Given the description of an element on the screen output the (x, y) to click on. 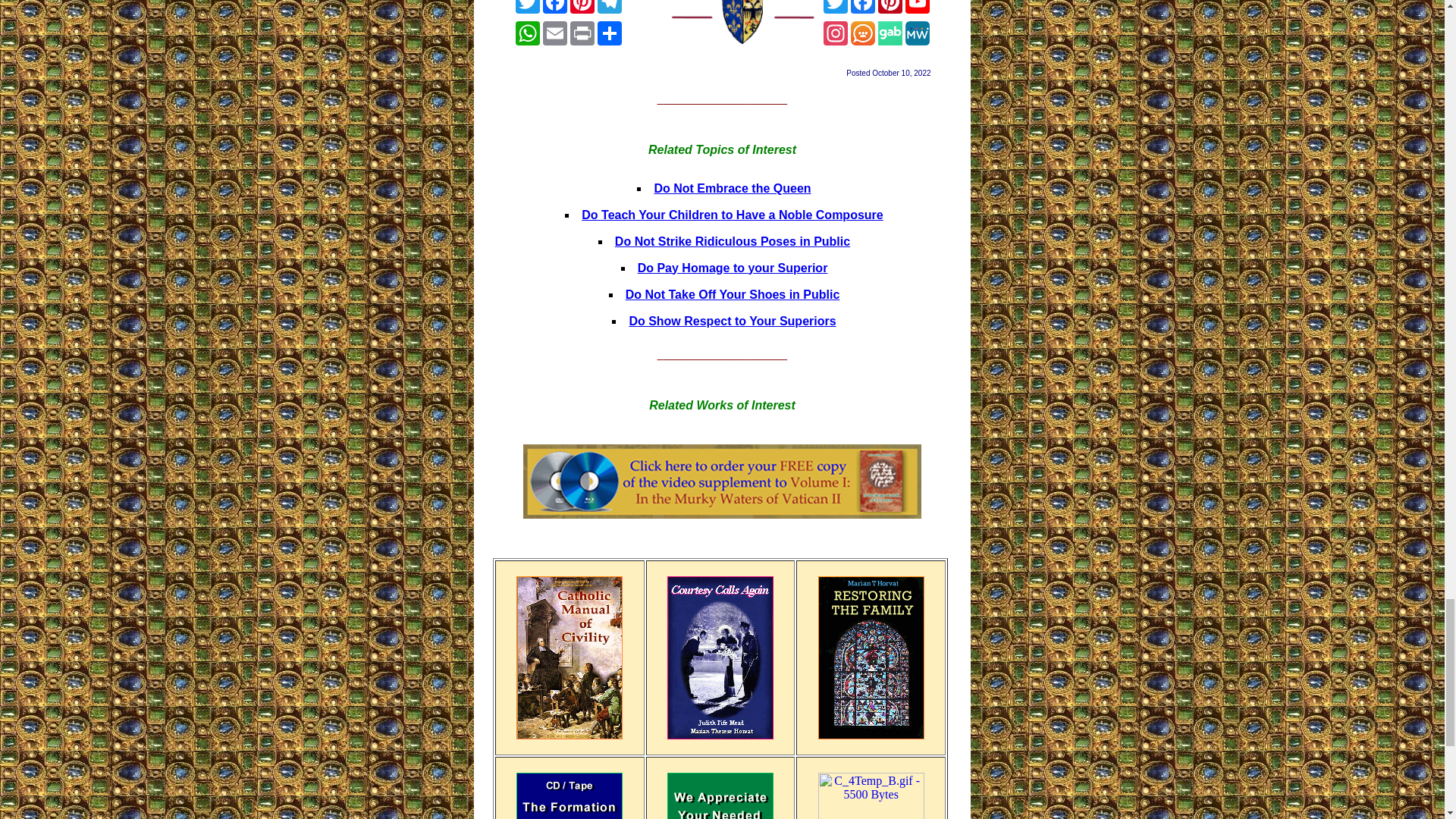
Twitter (835, 6)
Do Pay Homage to your Superior (732, 267)
Do Not Strike Ridiculous Poses in Public (732, 241)
Email (555, 33)
Do Teach Your Children to Have a Noble Composure (731, 214)
Do Not Take Off Your Shoes in Public (733, 294)
Telegram (609, 6)
Facebook (555, 6)
YouTube (917, 6)
Pinterest (582, 6)
